Given the description of an element on the screen output the (x, y) to click on. 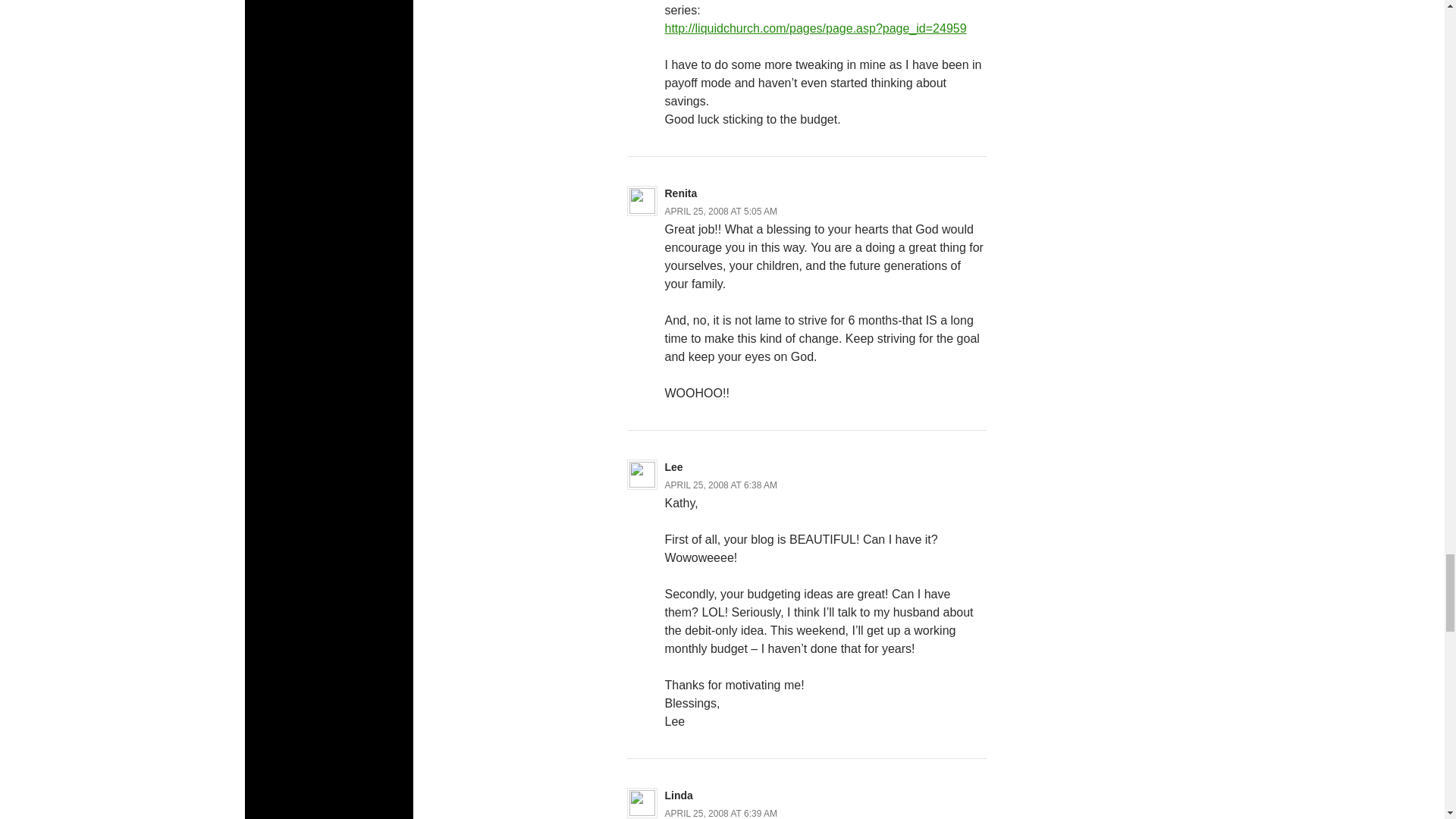
Renita (680, 193)
Lee (672, 467)
APRIL 25, 2008 AT 5:05 AM (720, 211)
